Given the description of an element on the screen output the (x, y) to click on. 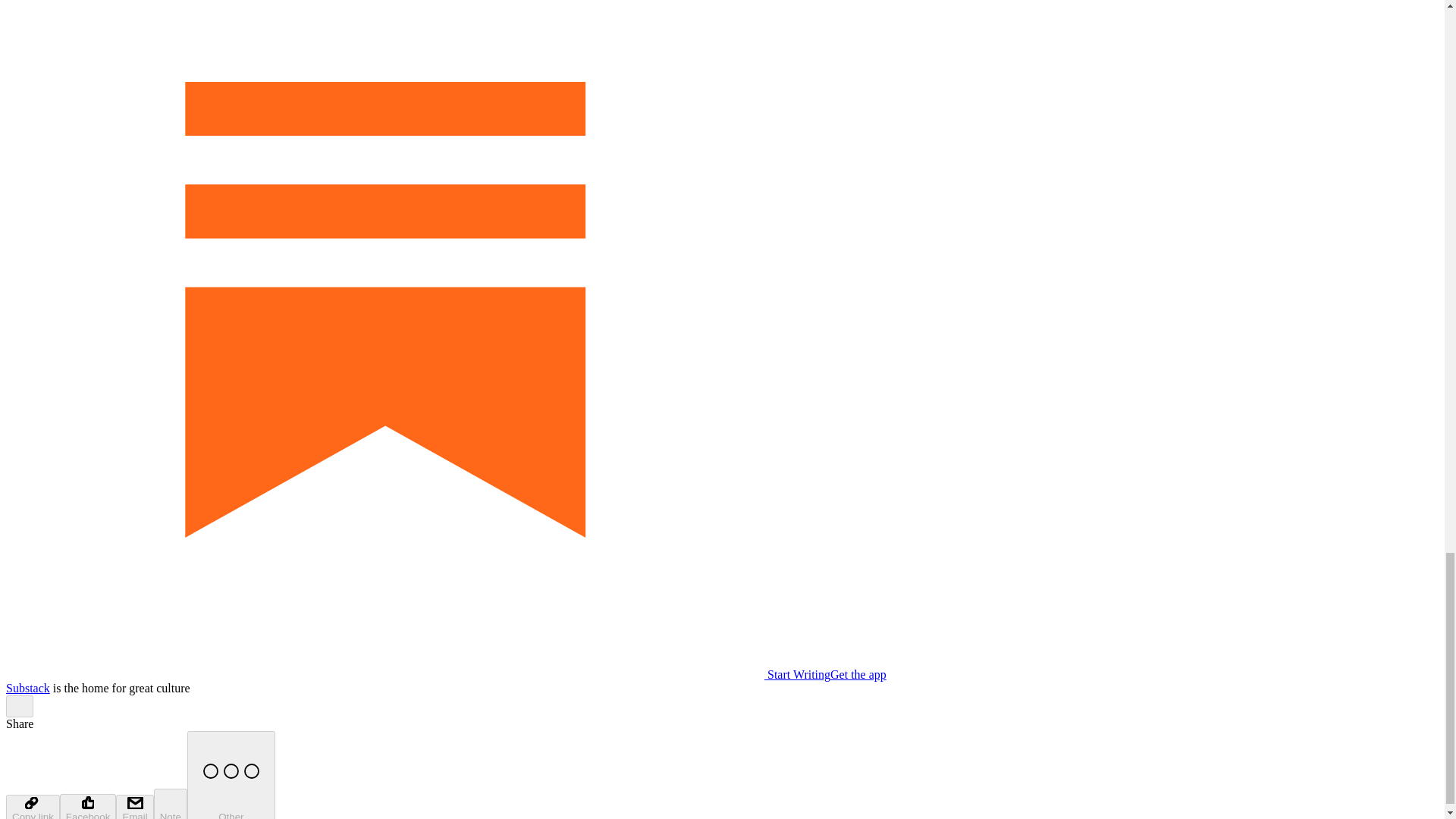
Get the app (857, 674)
Start Writing (417, 674)
Substack (27, 687)
